Given the description of an element on the screen output the (x, y) to click on. 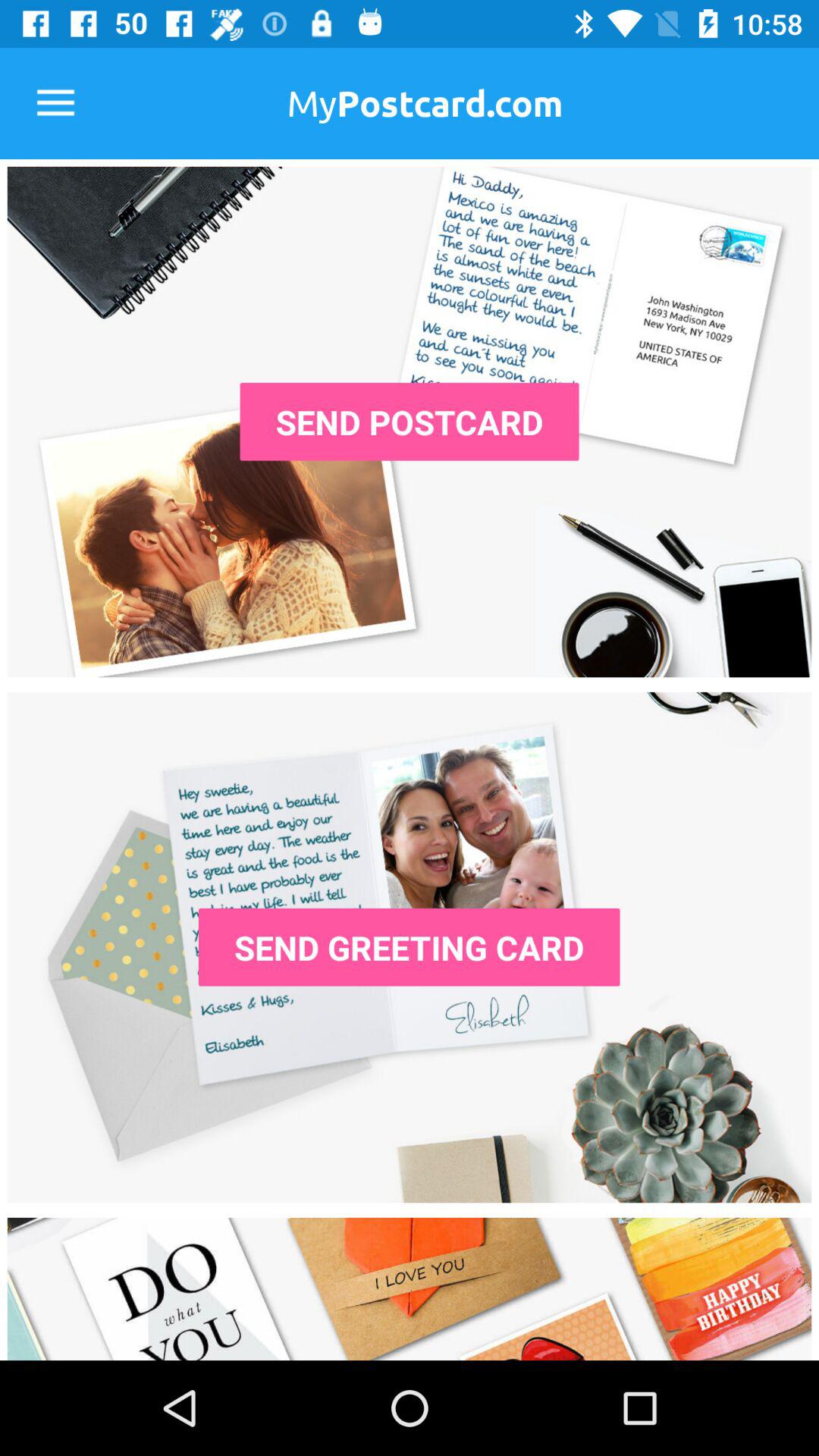
send a postcard (409, 421)
